Given the description of an element on the screen output the (x, y) to click on. 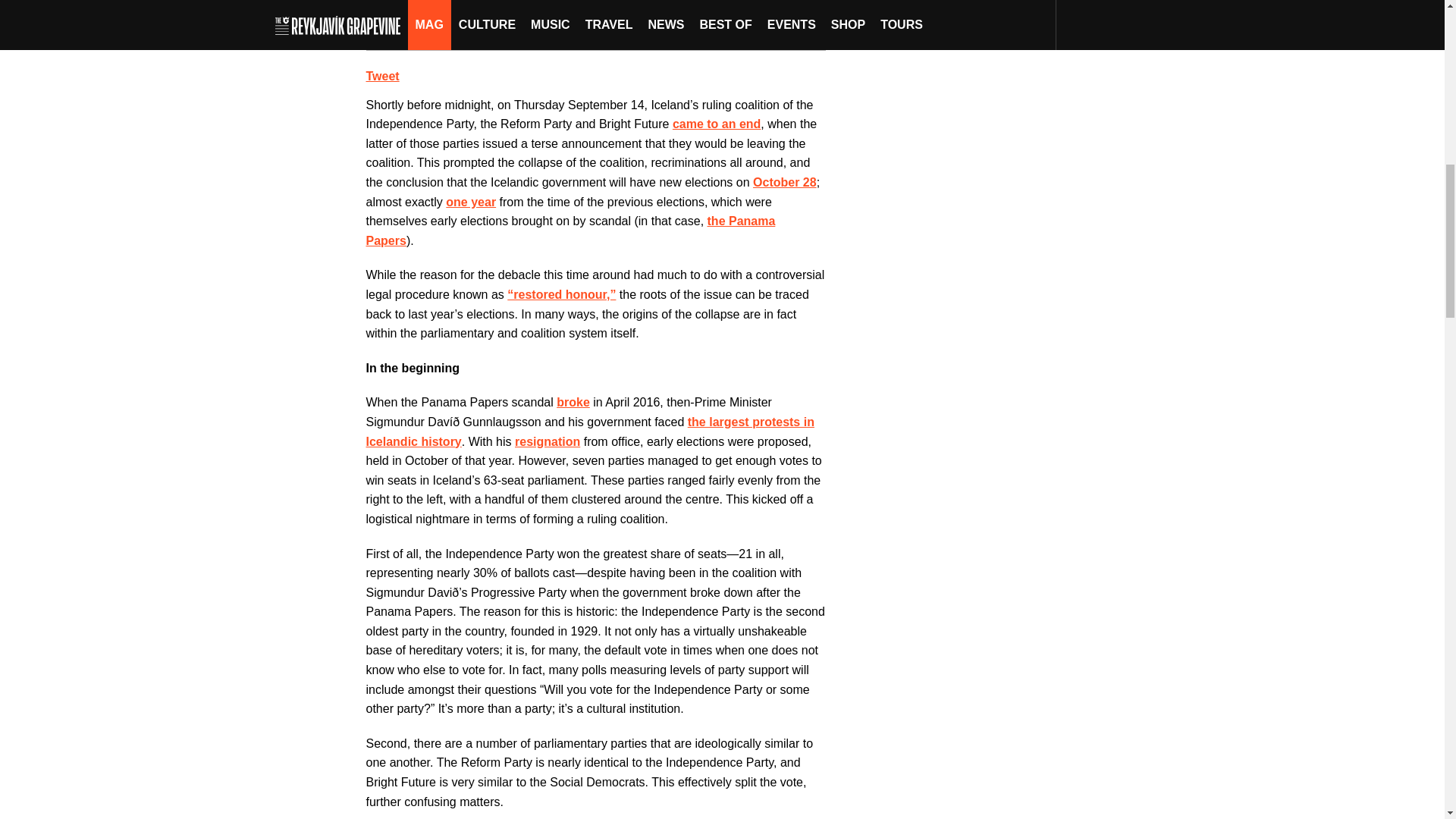
Posts by Andie Sophia Fontaine (497, 0)
came to an end (716, 123)
resignation (547, 440)
the largest protests in Icelandic history (589, 431)
broke (572, 401)
the Panama Papers (569, 230)
one year (470, 201)
Tweet (381, 75)
Andie Sophia Fontaine (497, 0)
October 28 (784, 182)
